Given the description of an element on the screen output the (x, y) to click on. 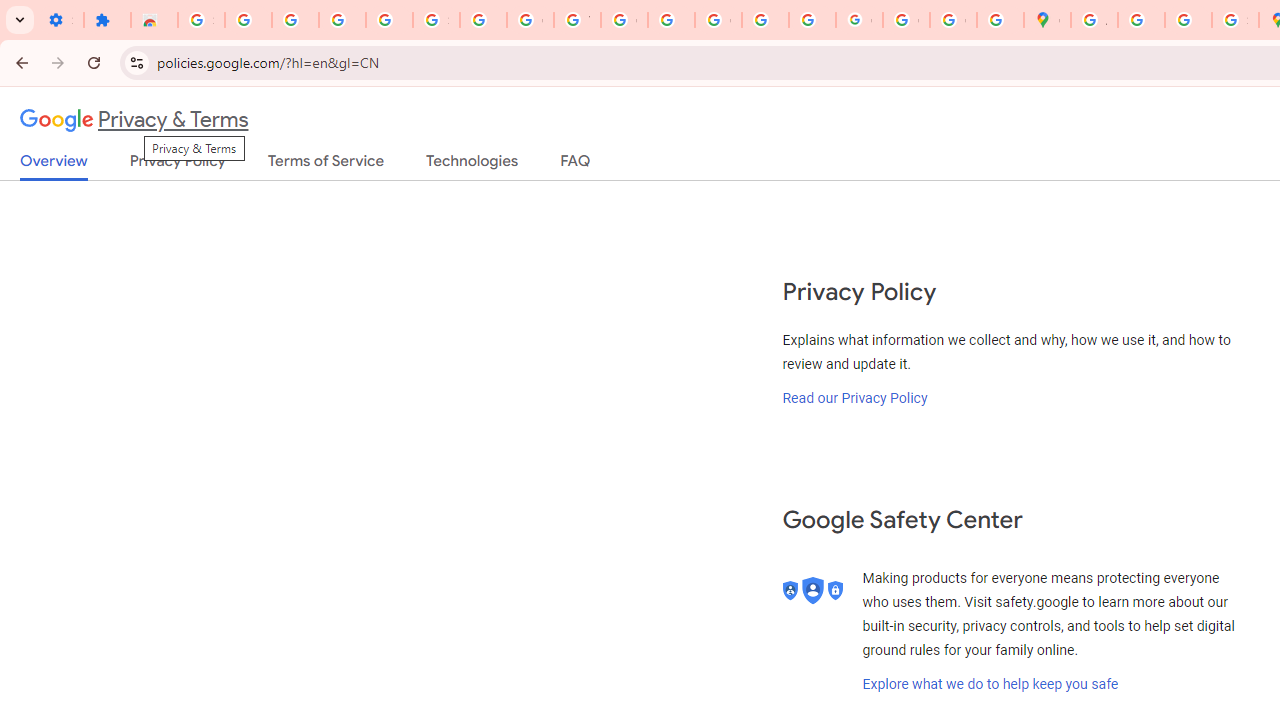
Delete photos & videos - Computer - Google Photos Help (294, 20)
Overview (54, 166)
Explore what we do to help keep you safe (989, 683)
Privacy & Terms (134, 120)
Sign in - Google Accounts (201, 20)
Reviews: Helix Fruit Jump Arcade Game (153, 20)
Extensions (107, 20)
YouTube (577, 20)
https://scholar.google.com/ (671, 20)
